Given the description of an element on the screen output the (x, y) to click on. 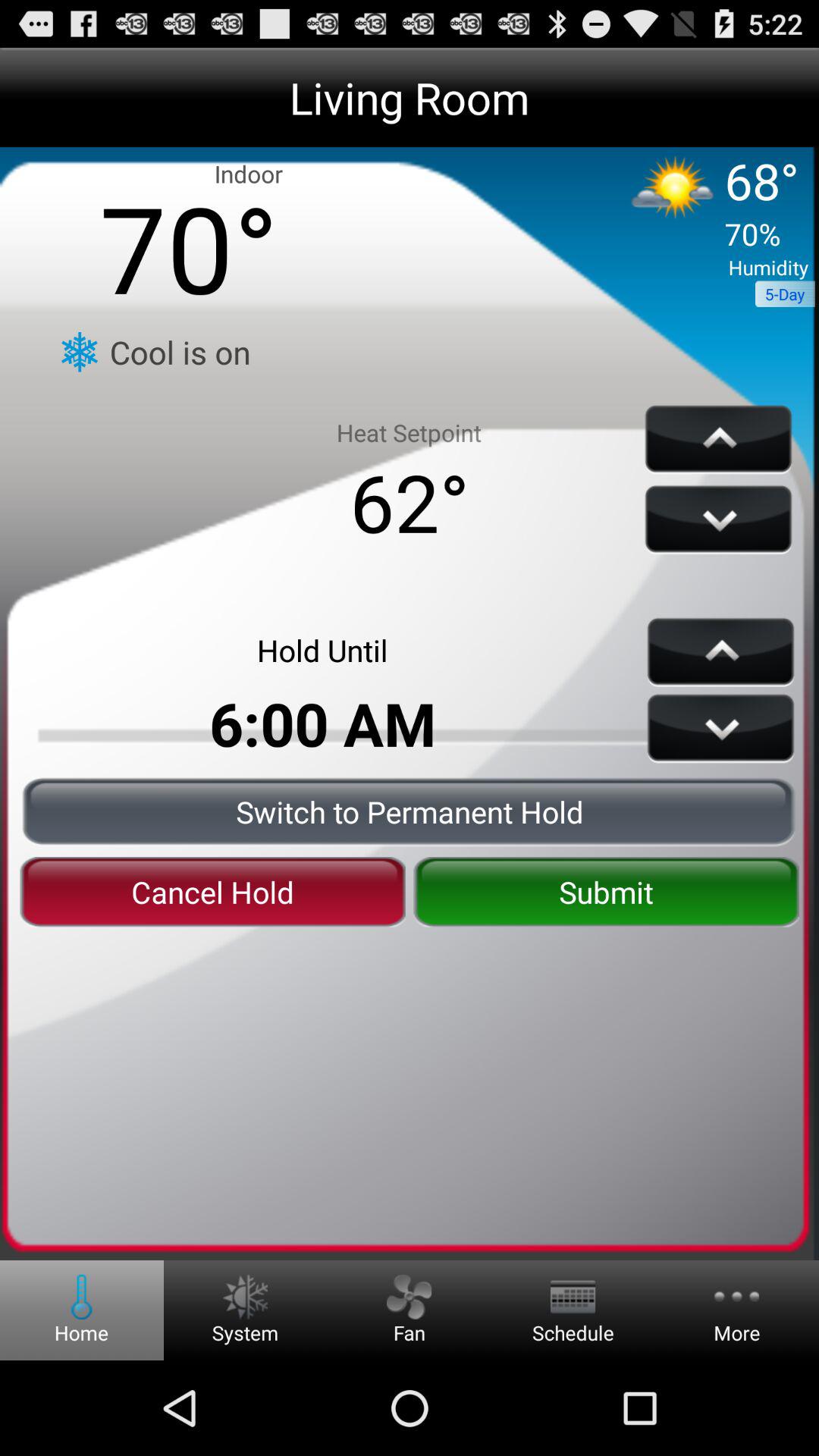
scroll until the cancel hold item (212, 892)
